Given the description of an element on the screen output the (x, y) to click on. 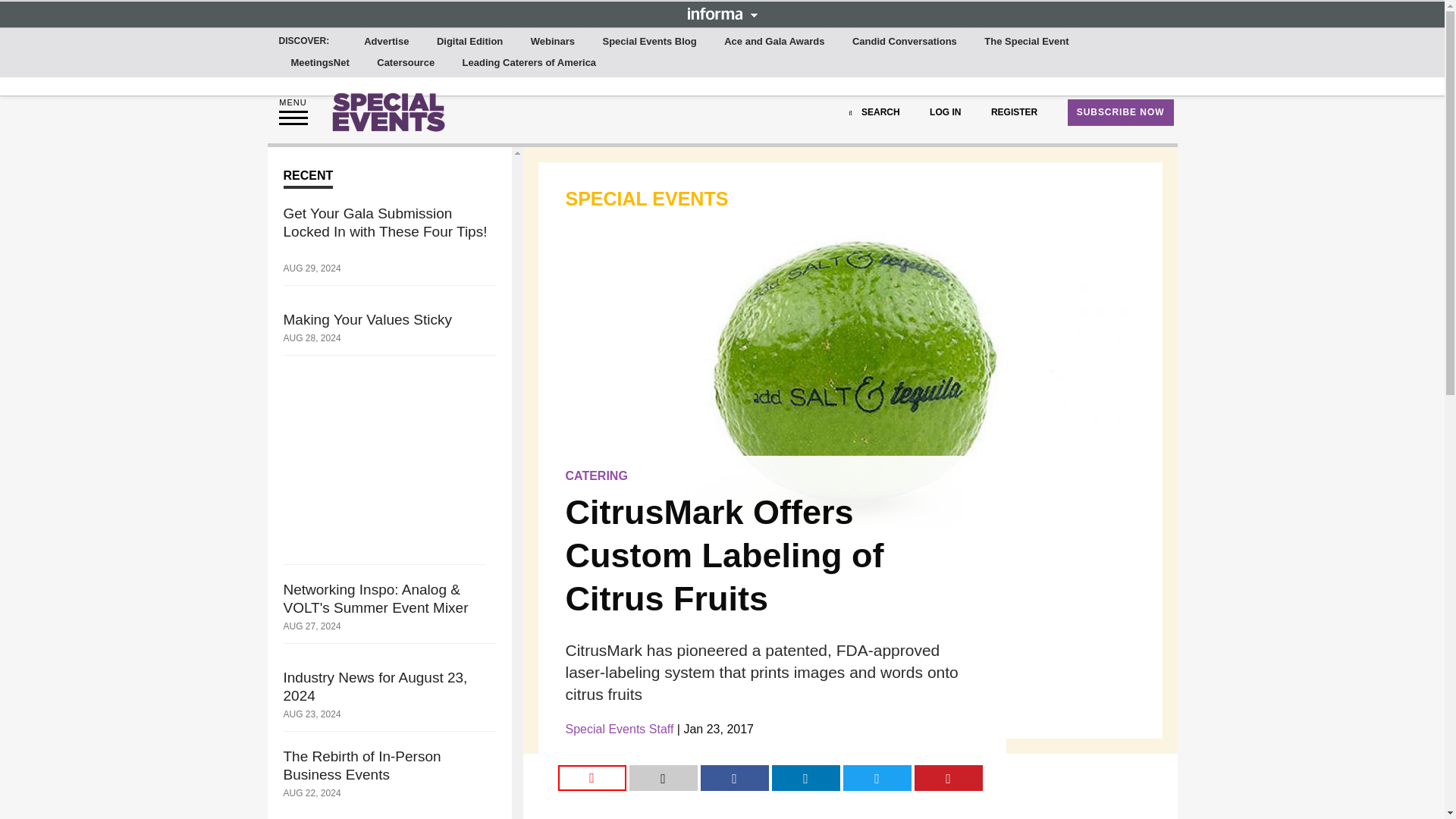
Webinars (552, 41)
Leading Caterers of America (529, 62)
Special Events Blog (648, 41)
The Special Event (1026, 41)
Catersource (406, 62)
Ace and Gala Awards (773, 41)
MeetingsNet (320, 62)
Digital Edition (469, 41)
Candid Conversations (903, 41)
Advertise (386, 41)
